Given the description of an element on the screen output the (x, y) to click on. 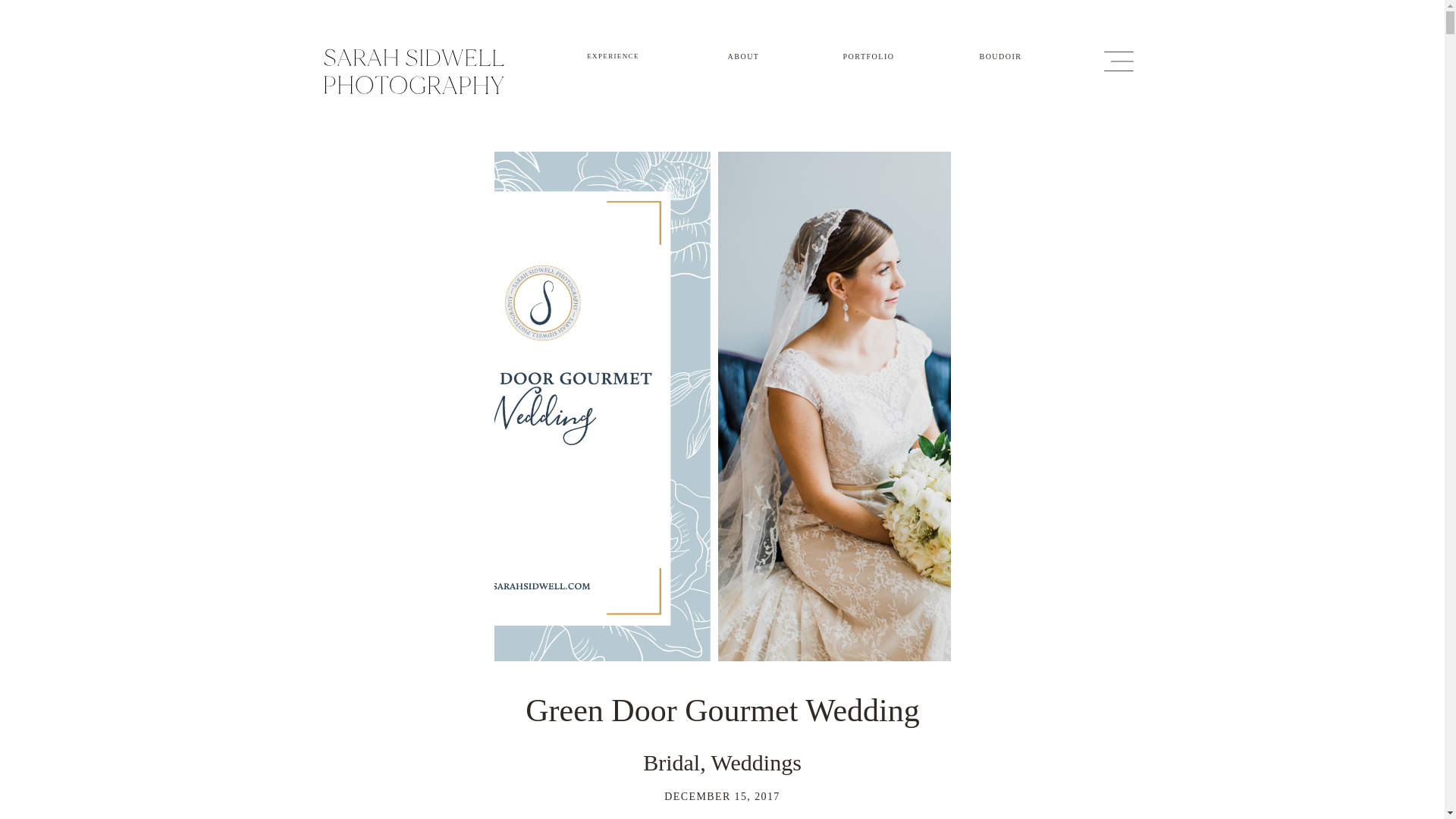
Bridal (671, 762)
PORTFOLIO (868, 54)
EXPERIENCE (613, 54)
BOUDOIR (1000, 54)
Weddings (756, 762)
ABOUT (743, 54)
